Given the description of an element on the screen output the (x, y) to click on. 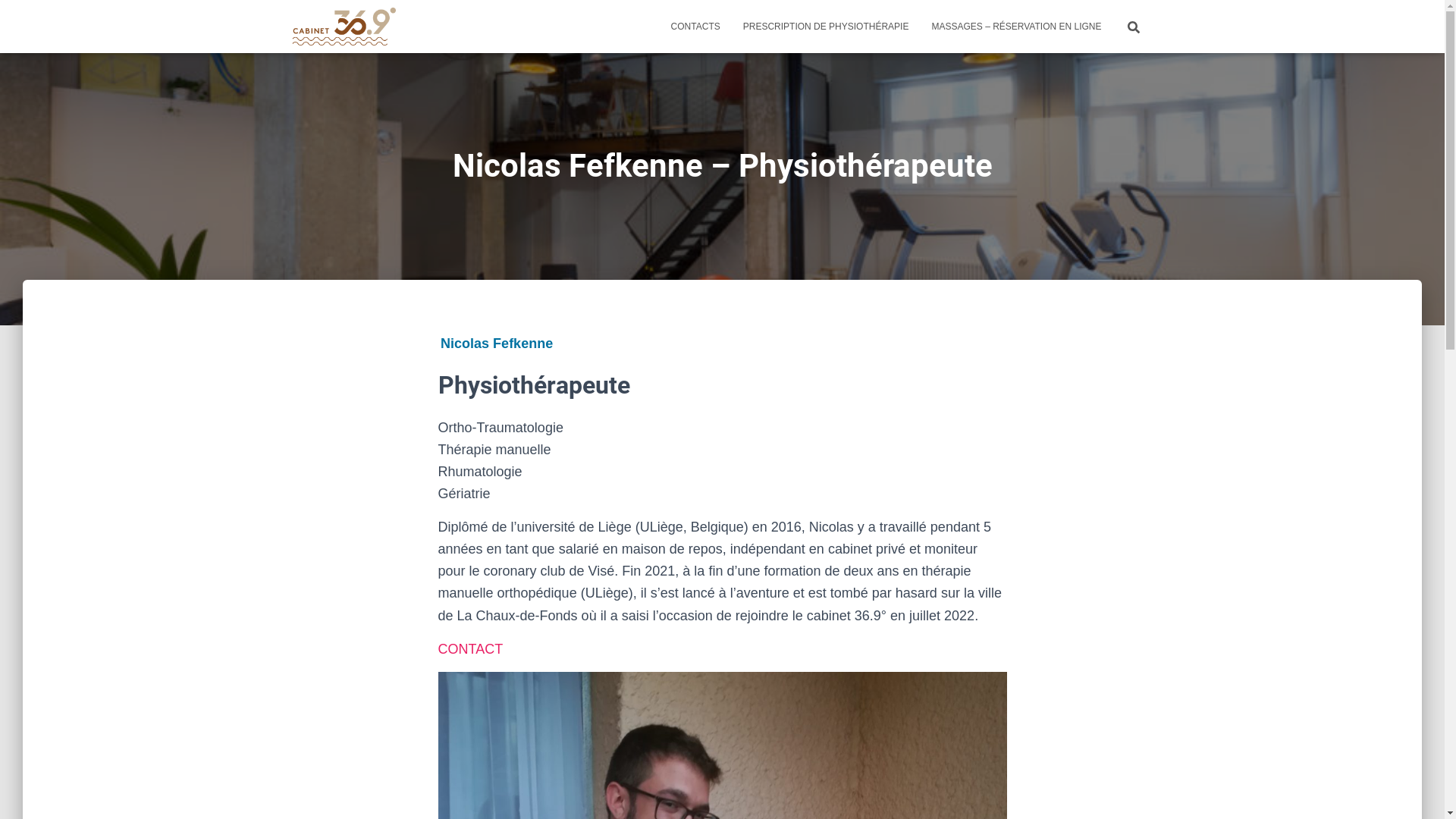
CONTACT Element type: text (470, 648)
Rechercher Element type: text (3, 16)
CONTACTS Element type: text (695, 26)
